Given the description of an element on the screen output the (x, y) to click on. 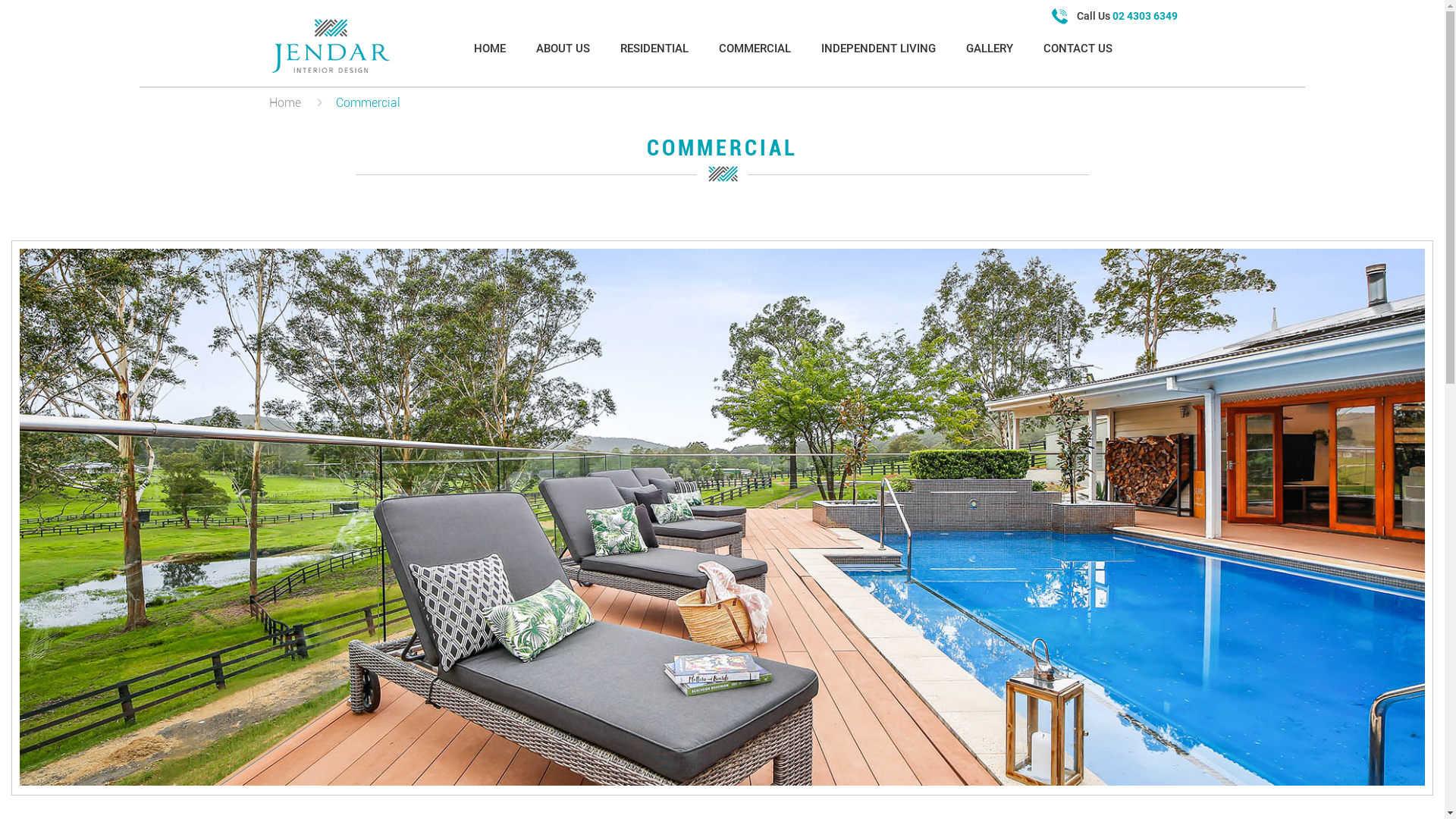
Home Element type: text (285, 102)
02 4303 6349 Element type: text (1144, 15)
GALLERY Element type: text (989, 48)
HOME Element type: text (489, 48)
ABOUT US Element type: text (562, 48)
CONTACT US Element type: text (1077, 48)
COMMERCIAL Element type: text (754, 48)
RESIDENTIAL Element type: text (654, 48)
INDEPENDENT LIVING Element type: text (878, 48)
